Given the description of an element on the screen output the (x, y) to click on. 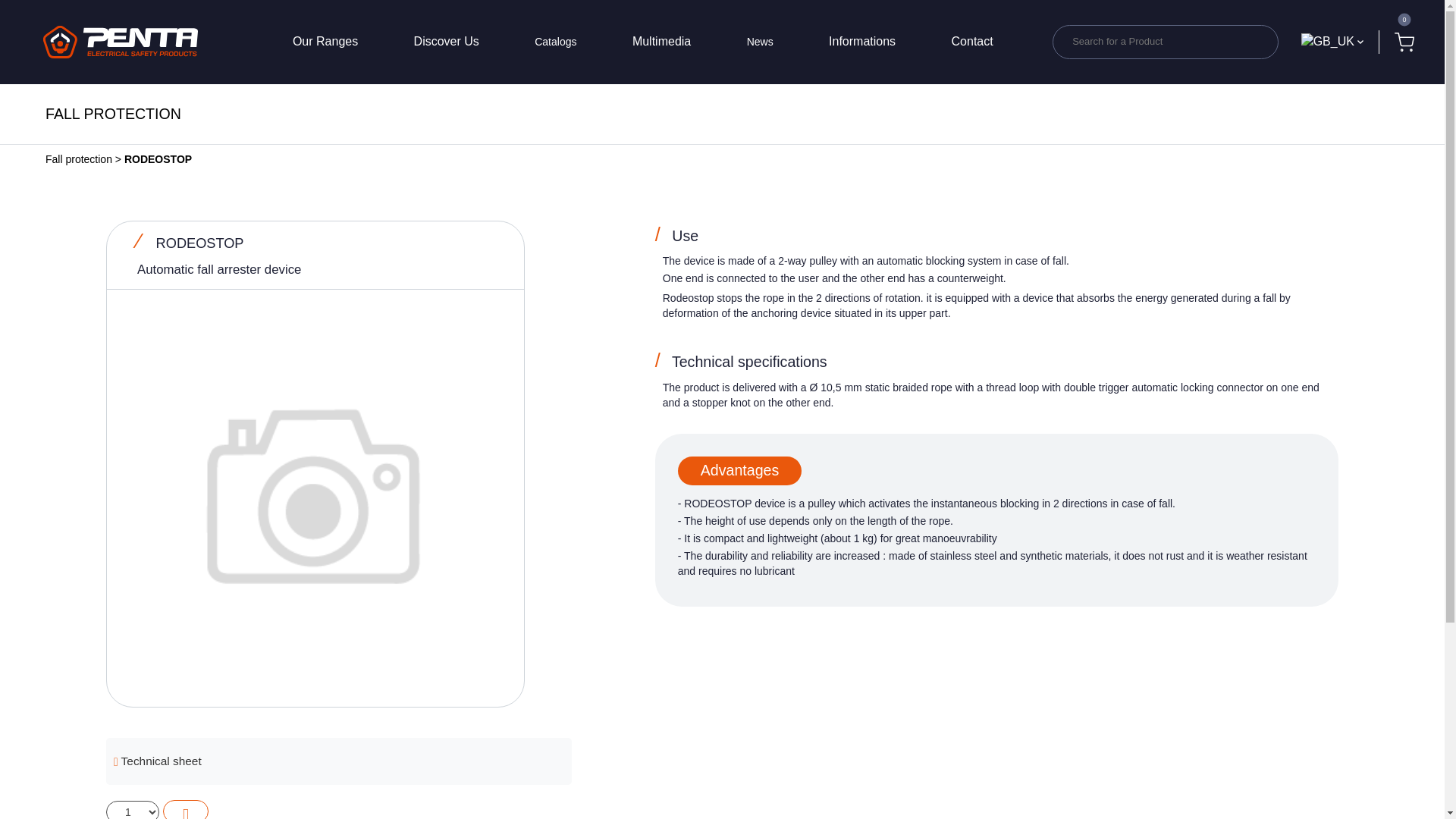
Contact (972, 41)
Catalogs (555, 42)
Our Ranges (325, 41)
News (759, 42)
Discover Us (446, 41)
Multimedia (660, 41)
Informations (861, 41)
